Given the description of an element on the screen output the (x, y) to click on. 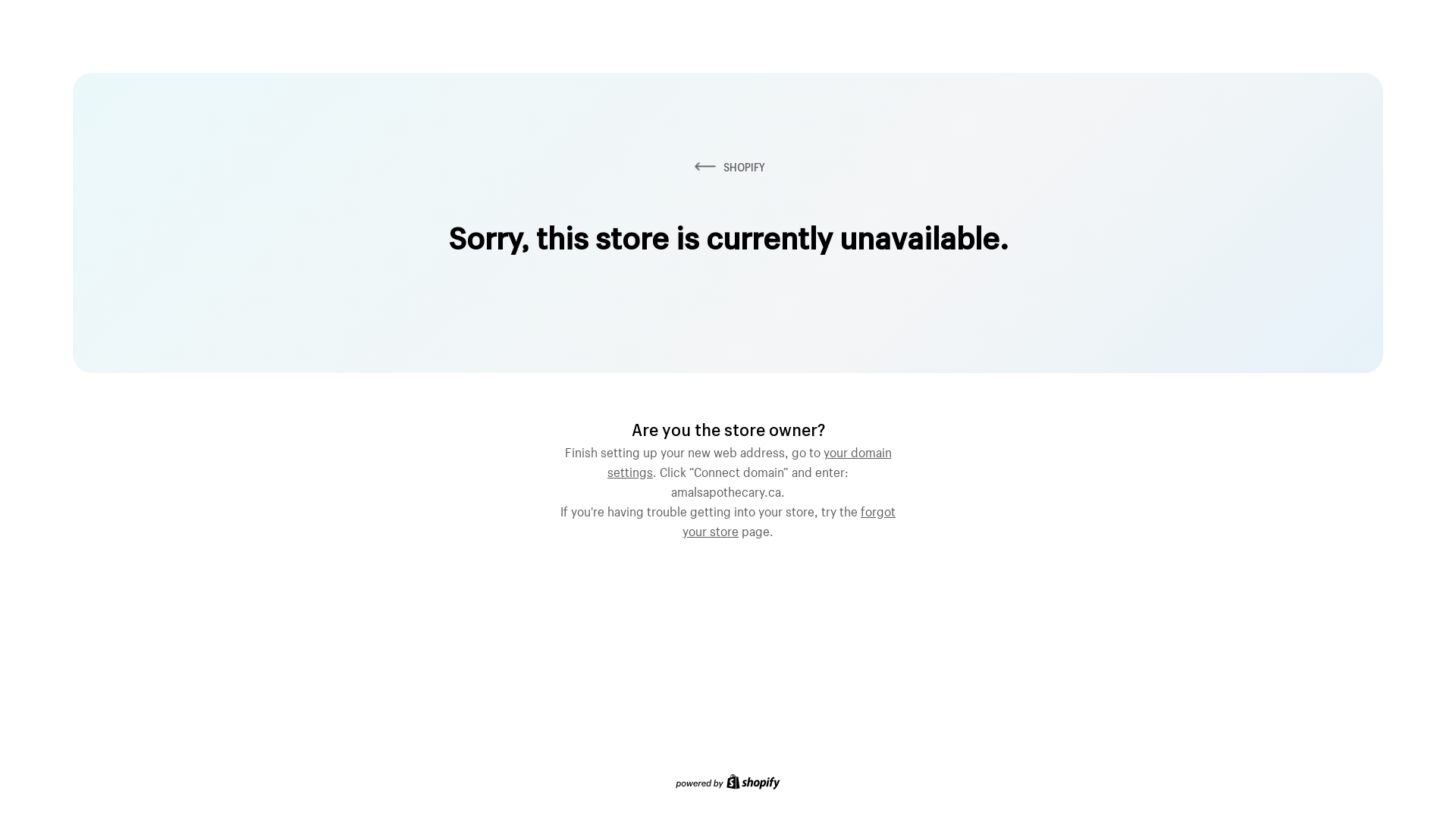
forgot your store Element type: text (788, 519)
SHOPIFY Element type: text (727, 167)
your domain settings Element type: text (749, 460)
